Given the description of an element on the screen output the (x, y) to click on. 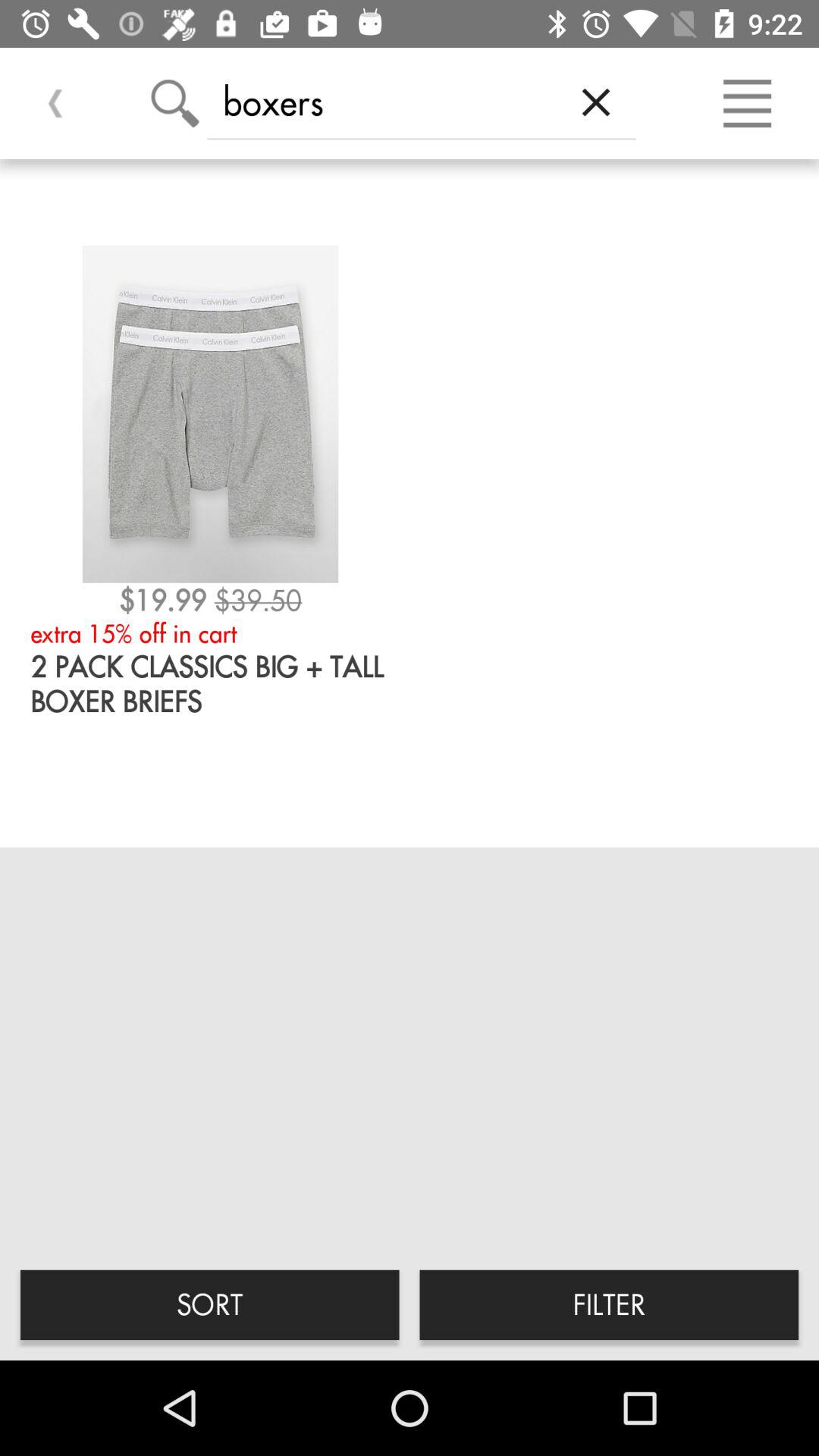
tap the icon next to filter (209, 1304)
